Given the description of an element on the screen output the (x, y) to click on. 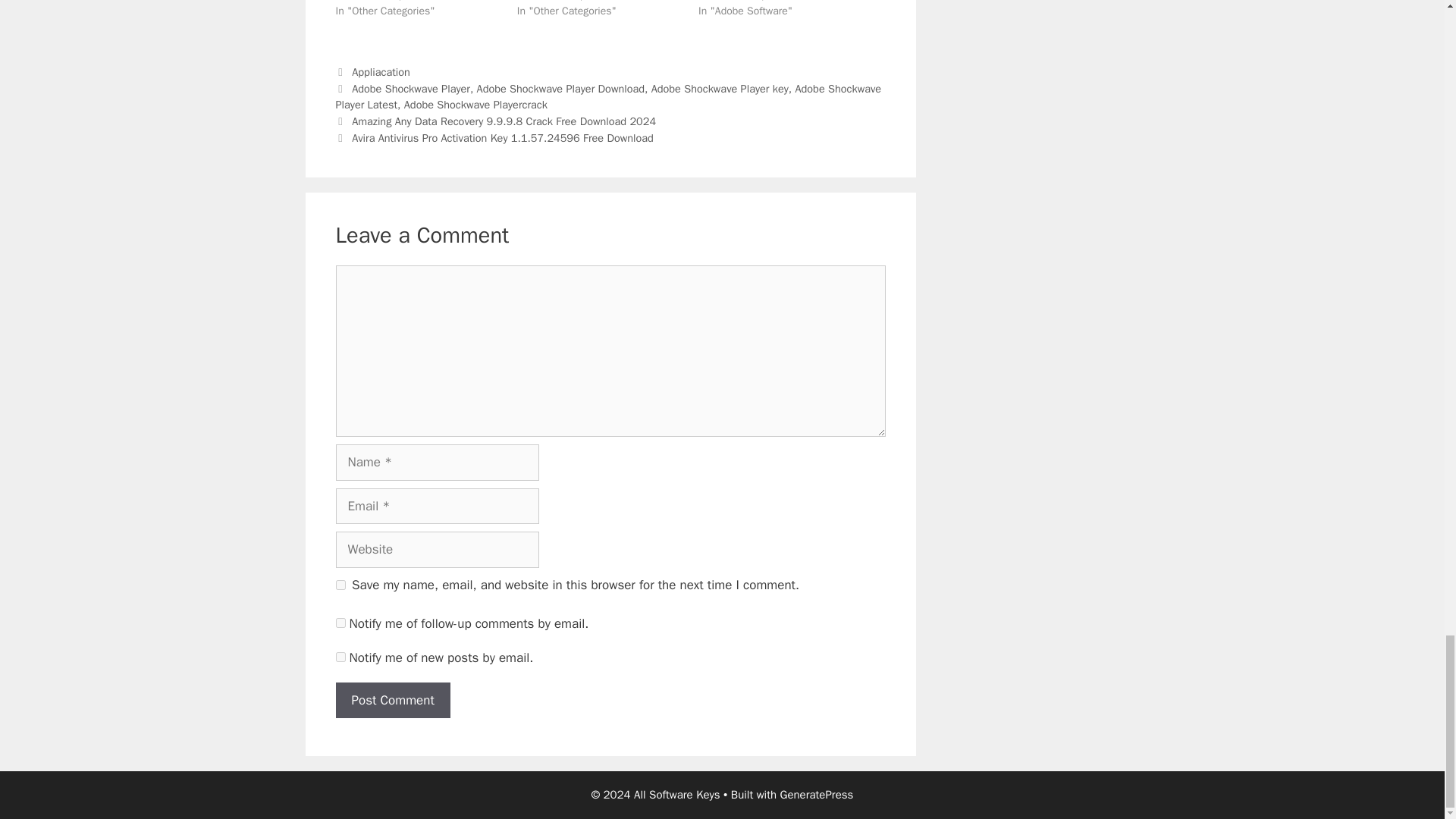
subscribe (339, 623)
yes (339, 584)
subscribe (339, 656)
Post Comment (391, 700)
